Given the description of an element on the screen output the (x, y) to click on. 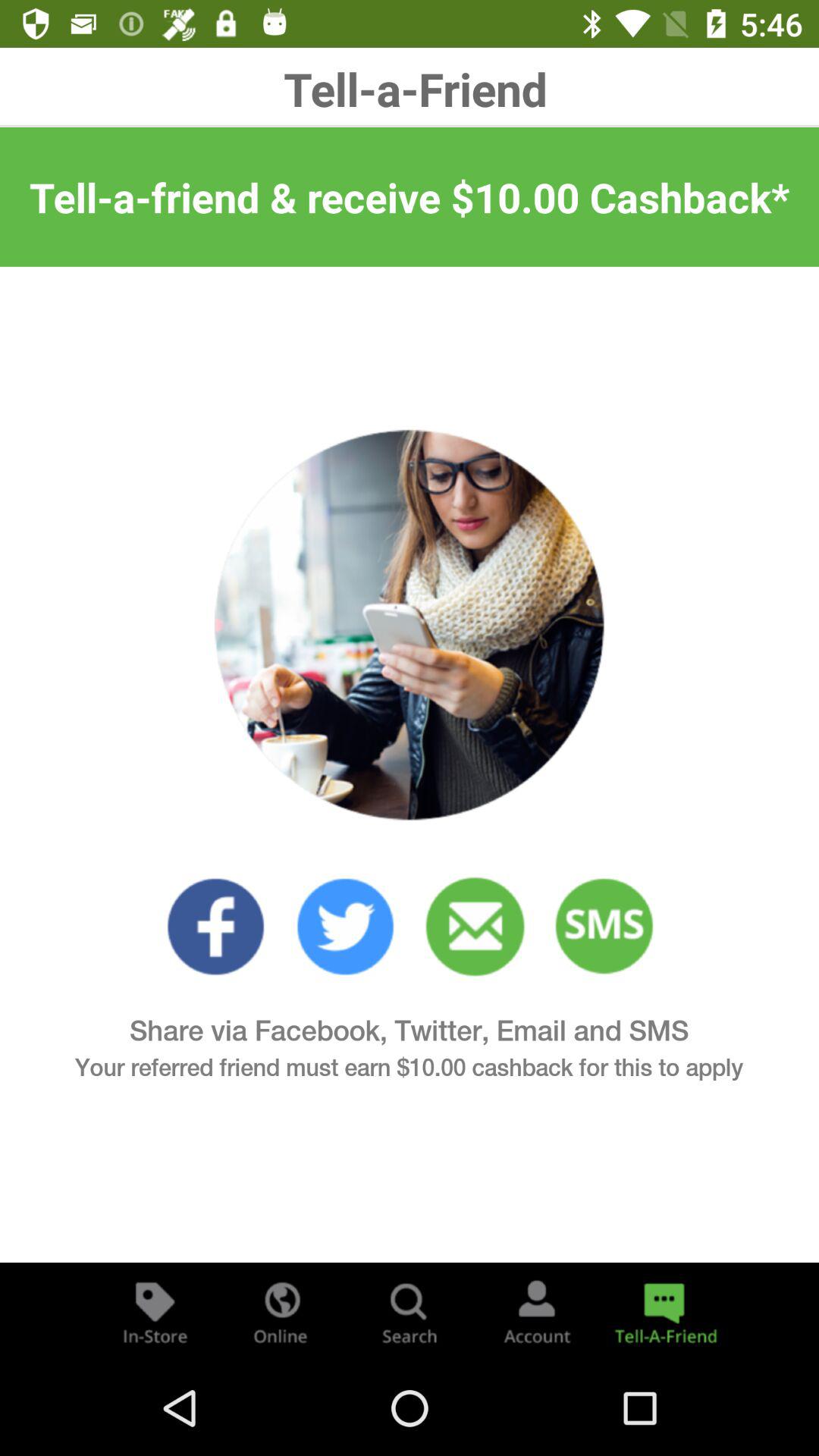
view account (536, 1311)
